Given the description of an element on the screen output the (x, y) to click on. 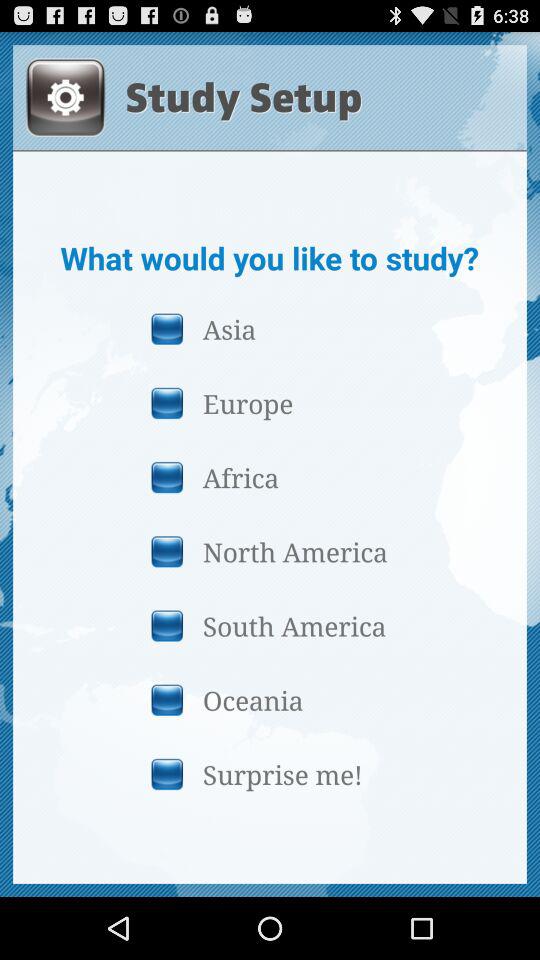
turn off the surprise me! item (269, 774)
